Given the description of an element on the screen output the (x, y) to click on. 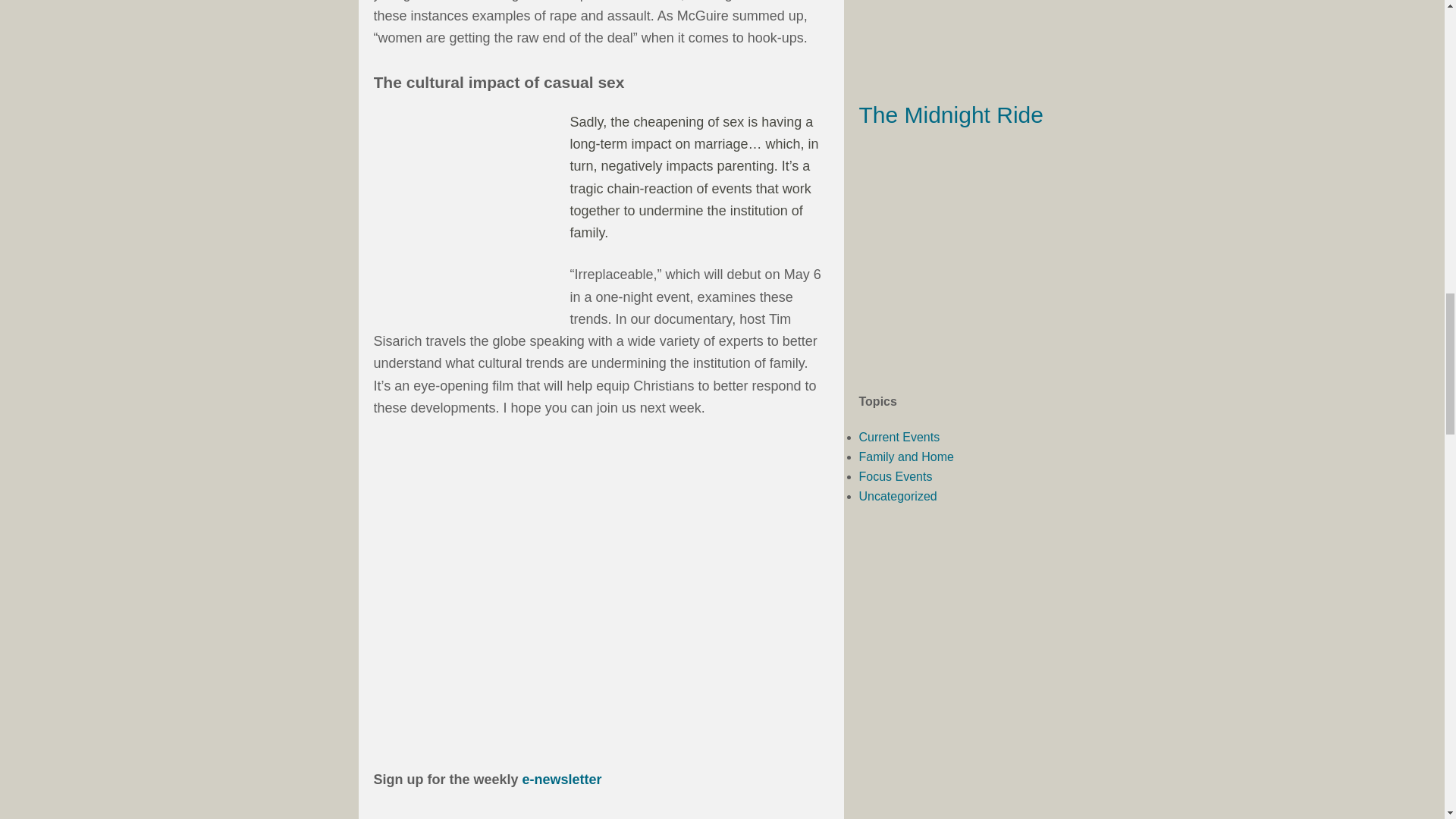
e-newsletter (562, 779)
Current Events (899, 436)
The Midnight Ride (950, 114)
Family and Home (906, 456)
